Given the description of an element on the screen output the (x, y) to click on. 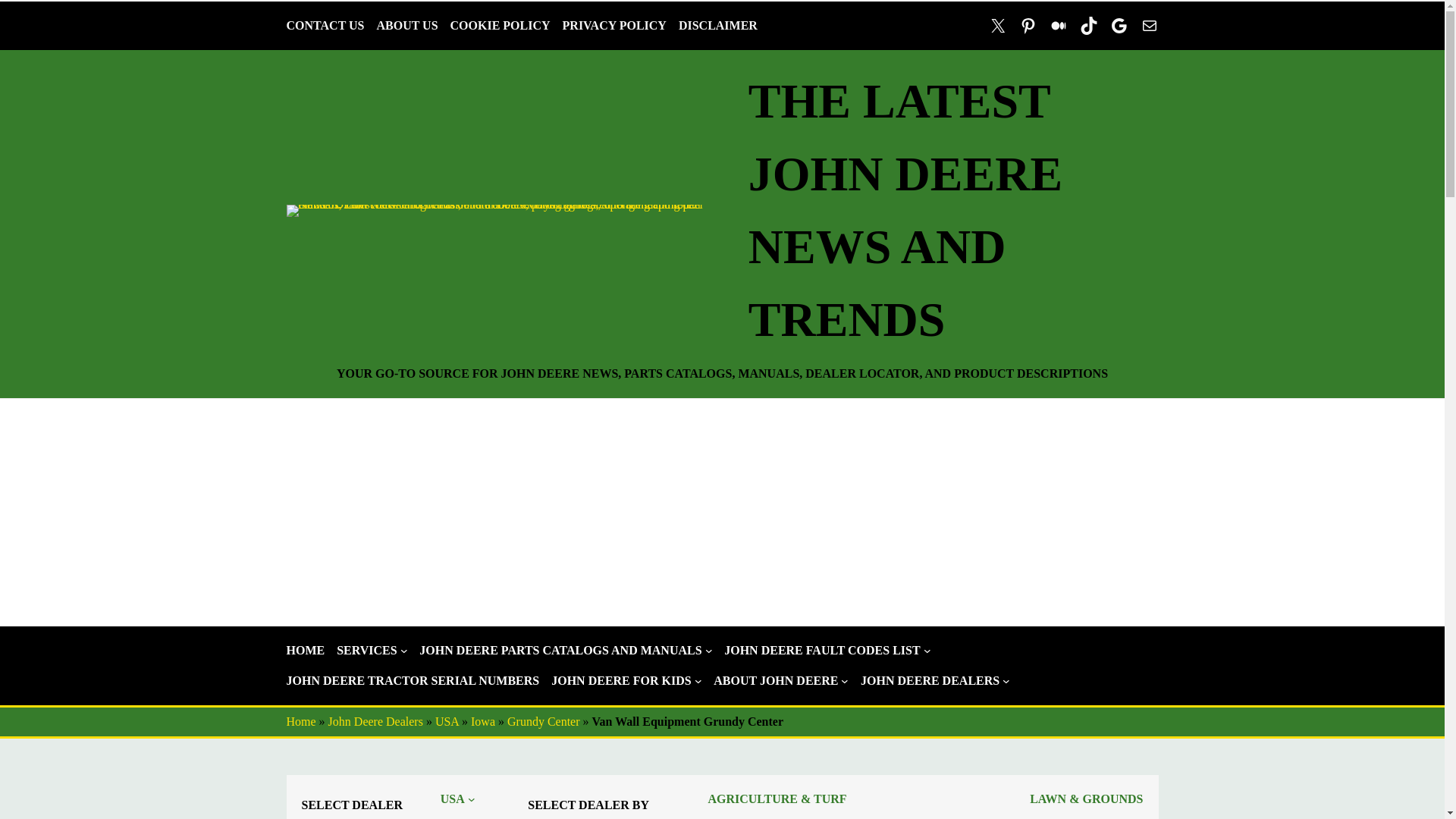
TikTok (1088, 25)
JOHN DEERE PARTS CATALOGS AND MANUALS (560, 650)
PRIVACY POLICY (614, 25)
Mail (1149, 25)
THE LATEST JOHN DEERE NEWS AND TRENDS (905, 210)
Google (1118, 25)
SERVICES (366, 650)
Pinterest (1027, 25)
CONTACT US (325, 25)
Medium (1058, 25)
ABOUT US (406, 25)
COOKIE POLICY (499, 25)
HOME (305, 650)
X (997, 25)
